Given the description of an element on the screen output the (x, y) to click on. 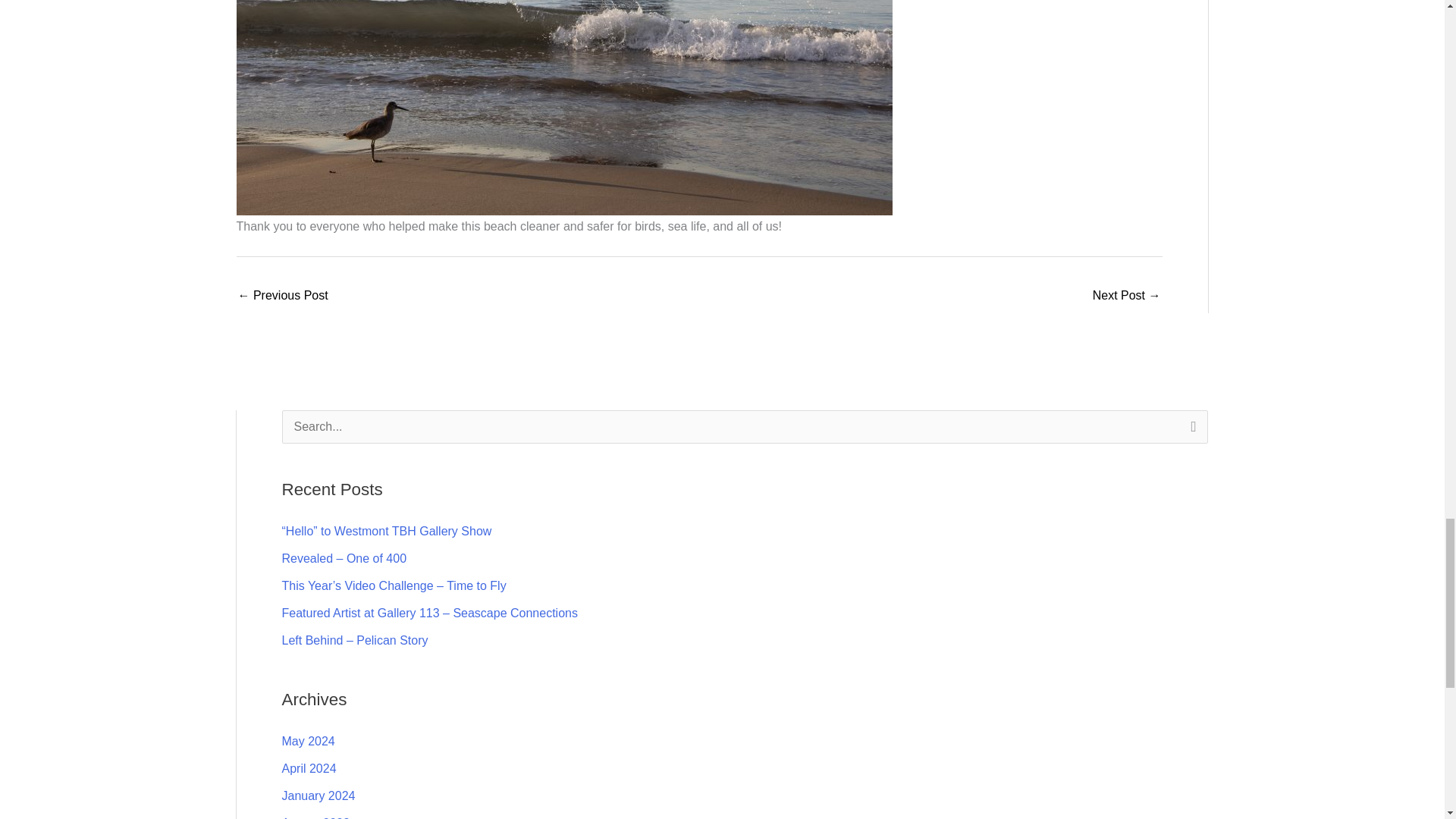
May 2024 (308, 740)
January 2024 (318, 795)
April 2024 (309, 768)
A New Dawn (1126, 296)
August 2023 (316, 817)
Gaviota Coast - After the Storm (283, 296)
